Given the description of an element on the screen output the (x, y) to click on. 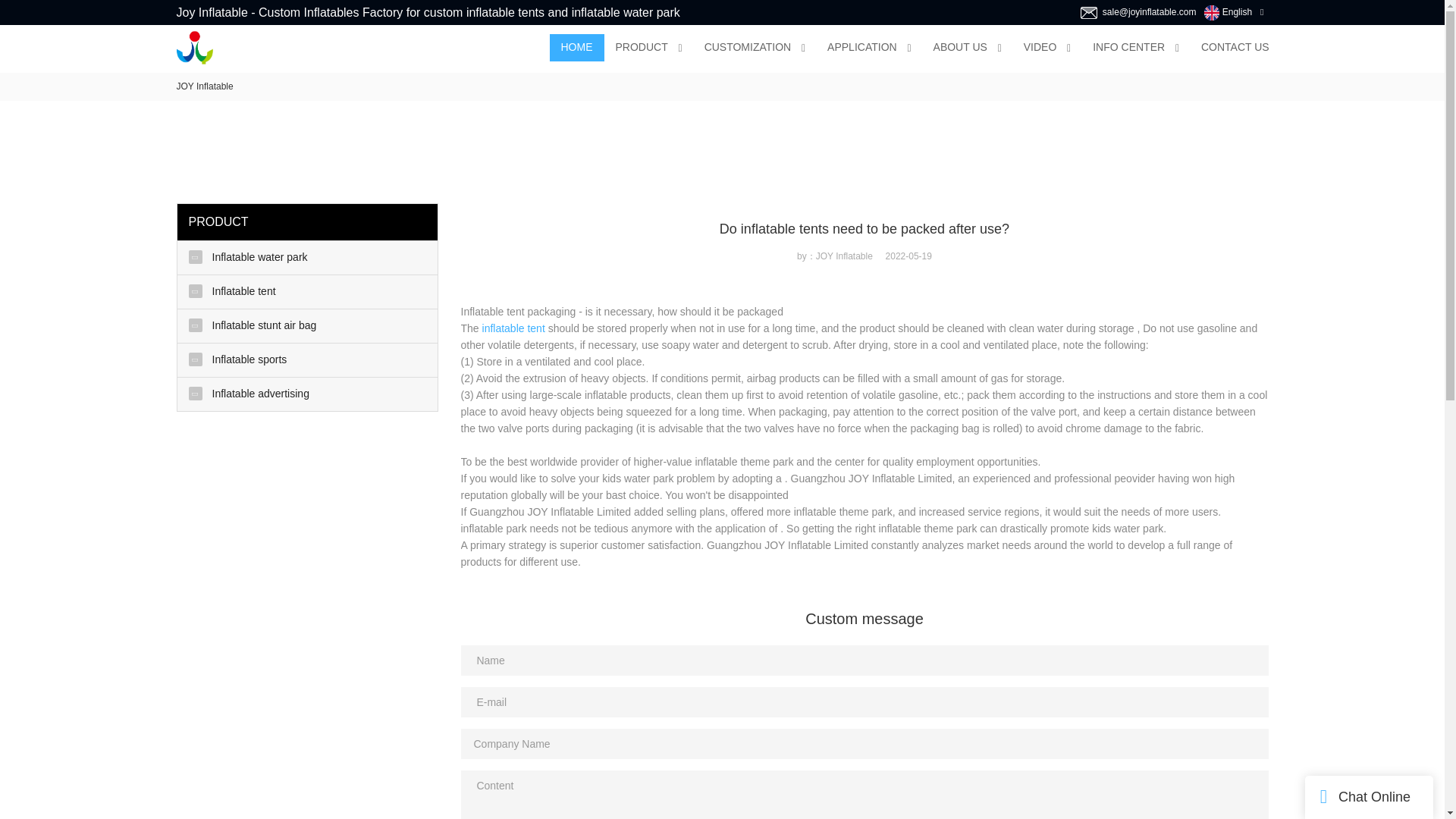
PRODUCT (641, 47)
ABOUT US (959, 47)
HOME (576, 47)
CUSTOMIZATION (748, 47)
APPLICATION (861, 47)
